Given the description of an element on the screen output the (x, y) to click on. 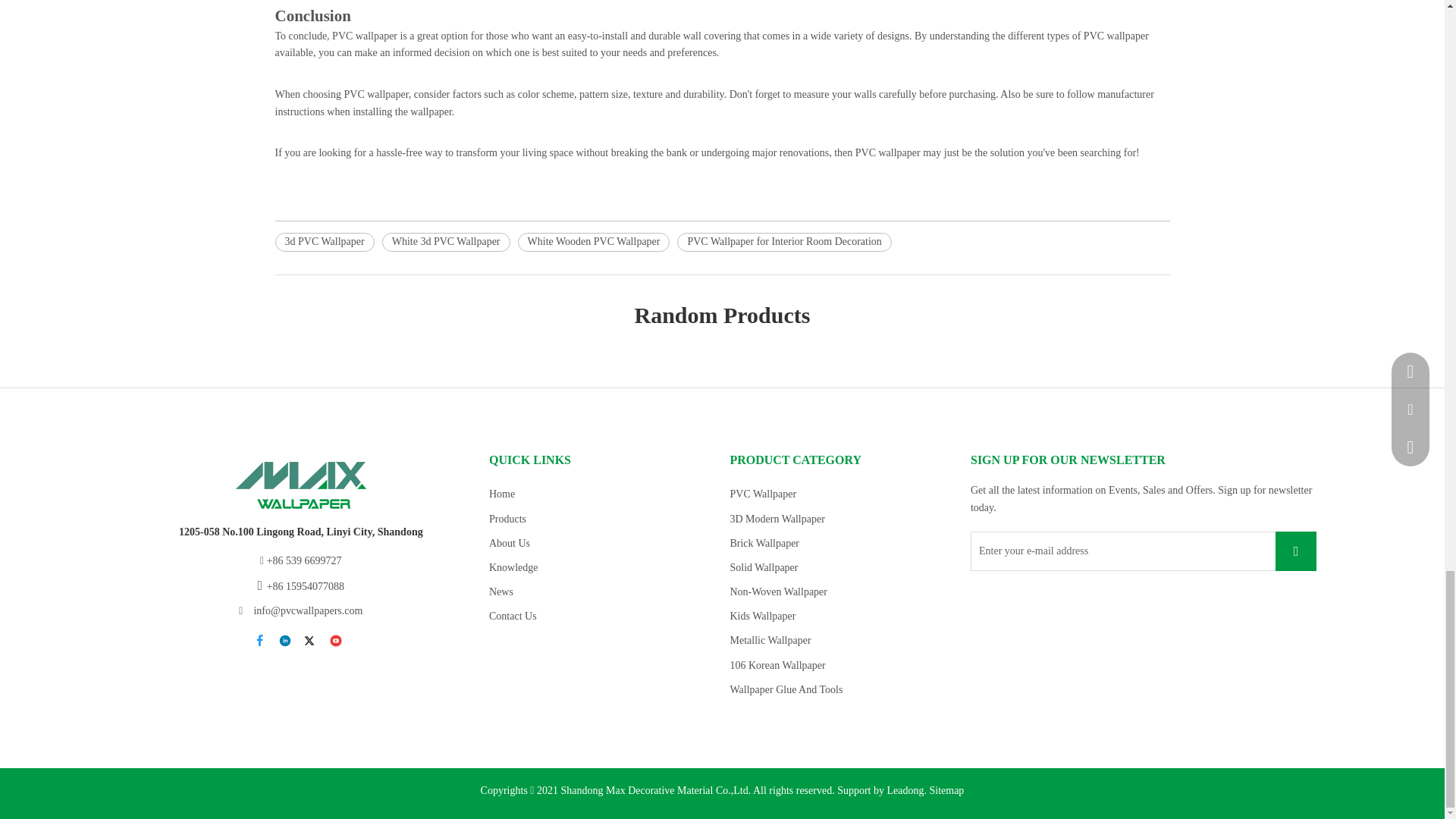
3d PVC Wallpaper (324, 241)
White 3d PVC Wallpaper (446, 241)
PVC Wallpaper for Interior Room Decoration (784, 241)
White Wooden PVC Wallpaper (593, 241)
